Given the description of an element on the screen output the (x, y) to click on. 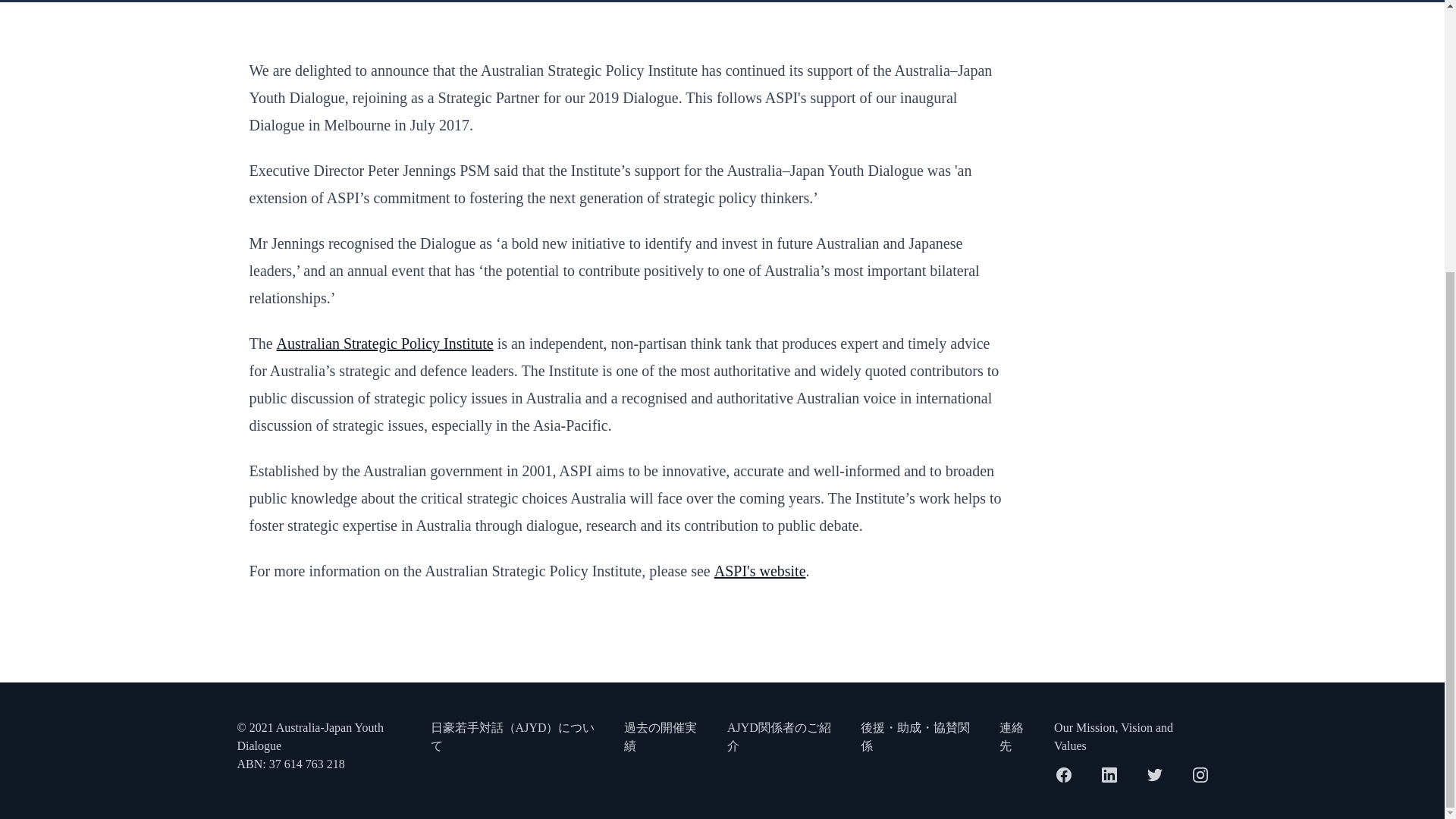
ASPI's website (760, 570)
Australian Strategic Policy Institute (384, 343)
Our Mission, Vision and Values (1130, 737)
